Given the description of an element on the screen output the (x, y) to click on. 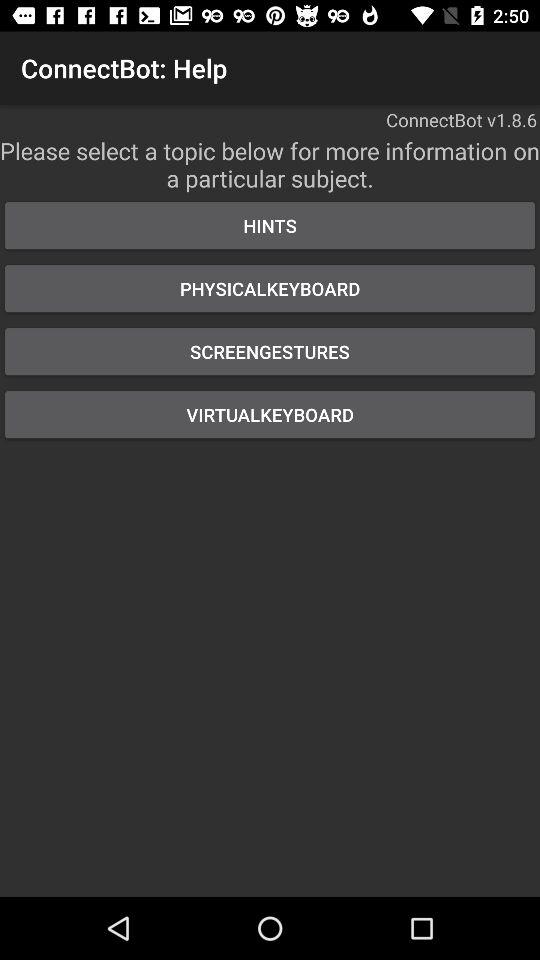
scroll to physicalkeyboard (270, 288)
